Given the description of an element on the screen output the (x, y) to click on. 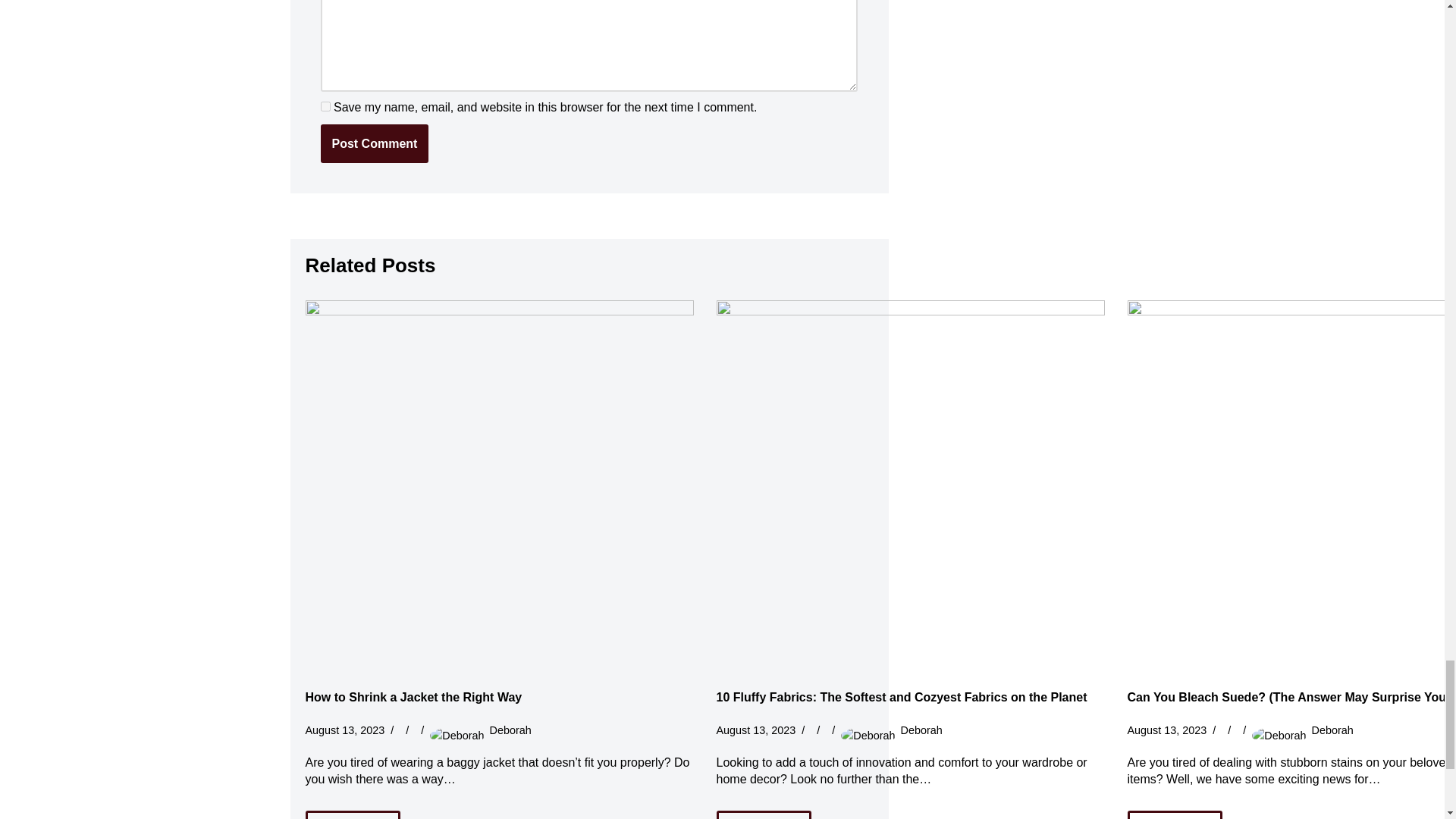
Deborah (1332, 729)
Deborah (510, 729)
Post Comment (374, 143)
Posts by Deborah (921, 729)
Post Comment (374, 143)
Deborah (921, 729)
yes (325, 106)
Posts by Deborah (1332, 729)
Posts by Deborah (510, 729)
How to Shrink a Jacket the Right Way (412, 697)
